Given the description of an element on the screen output the (x, y) to click on. 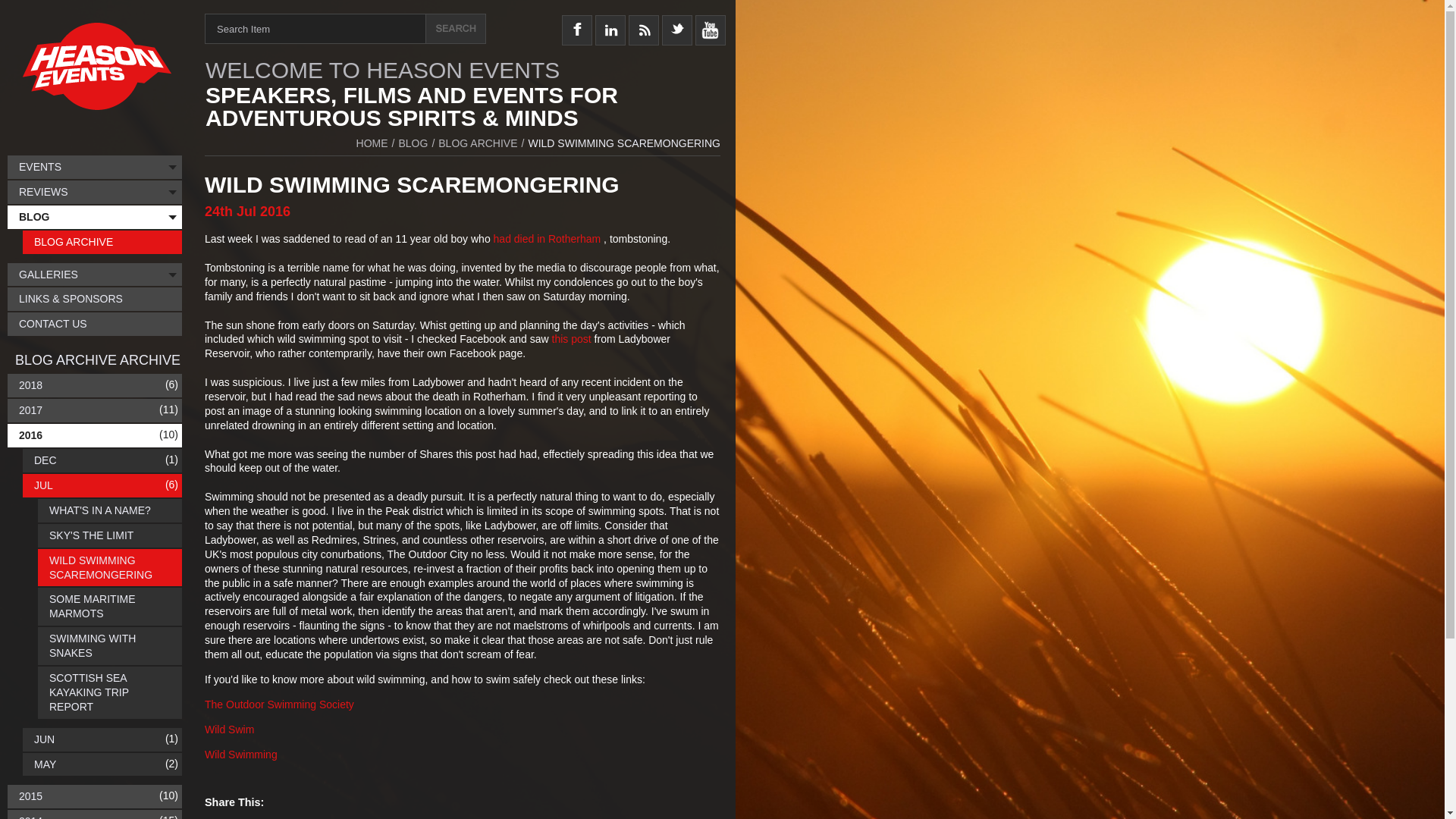
Search Item (315, 28)
BLOG (412, 143)
Wild Swim (229, 729)
had died in Rotherham (547, 238)
Wild Swimming (241, 754)
REVIEWS (94, 191)
The Outdoor Swimming Society (279, 704)
EVENTS (94, 167)
BLOG ARCHIVE (477, 143)
this post (571, 338)
